Given the description of an element on the screen output the (x, y) to click on. 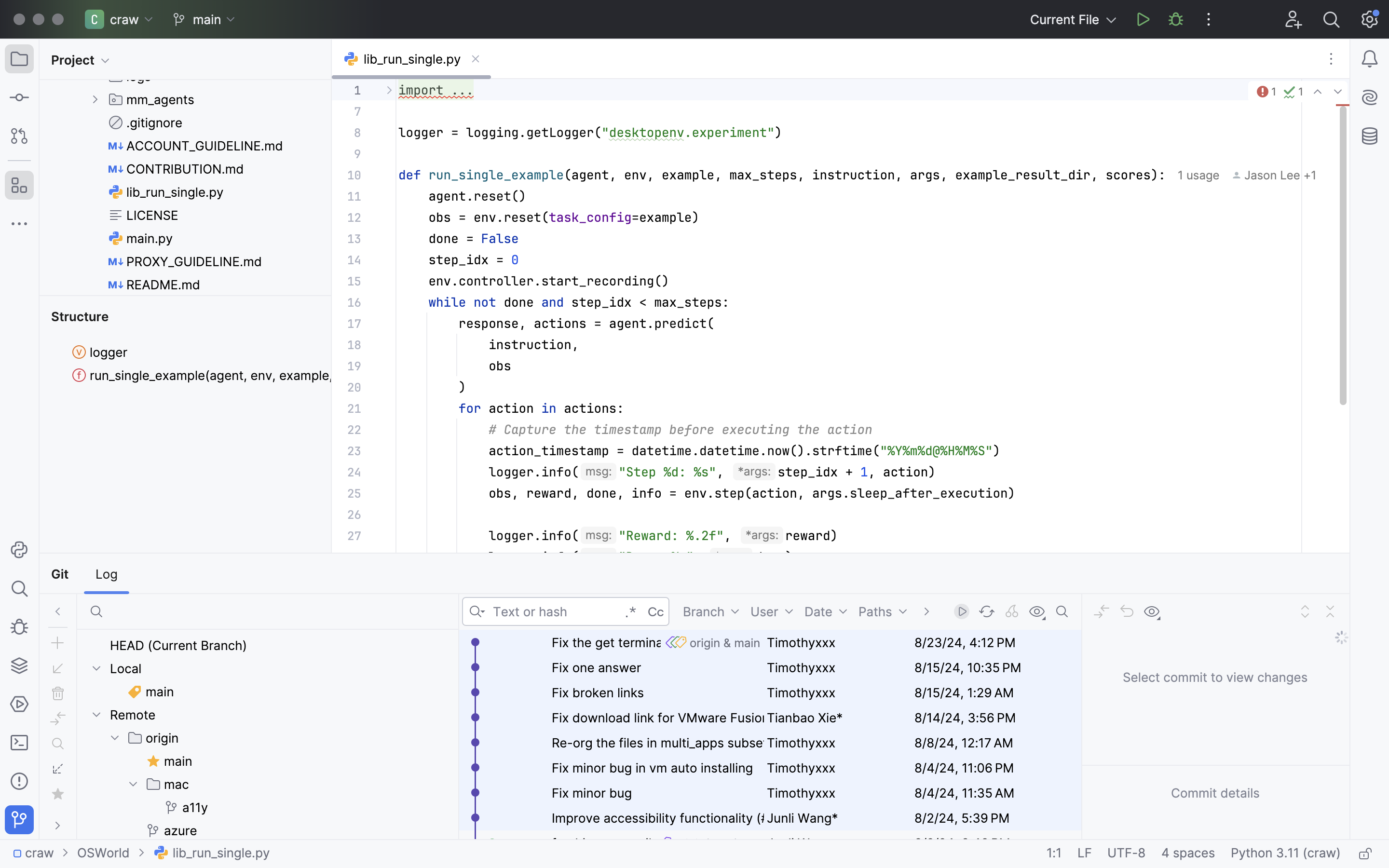
Vulnerable Dependencies Element type: AXStaticText (563, 573)
1 Element type: AXStaticText (1265, 91)
